Given the description of an element on the screen output the (x, y) to click on. 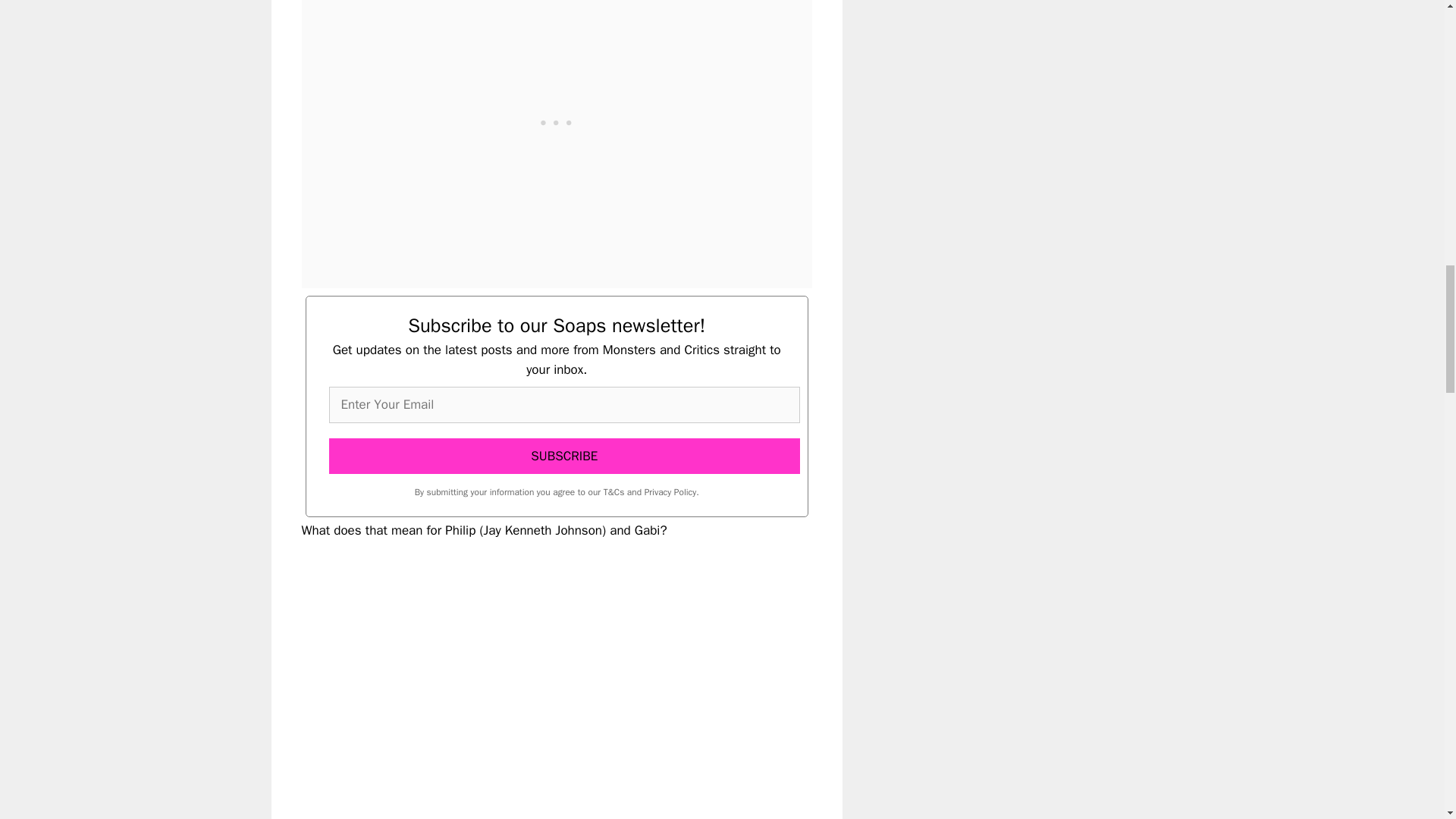
SUBSCRIBE (564, 456)
SUBSCRIBE (564, 456)
